Given the description of an element on the screen output the (x, y) to click on. 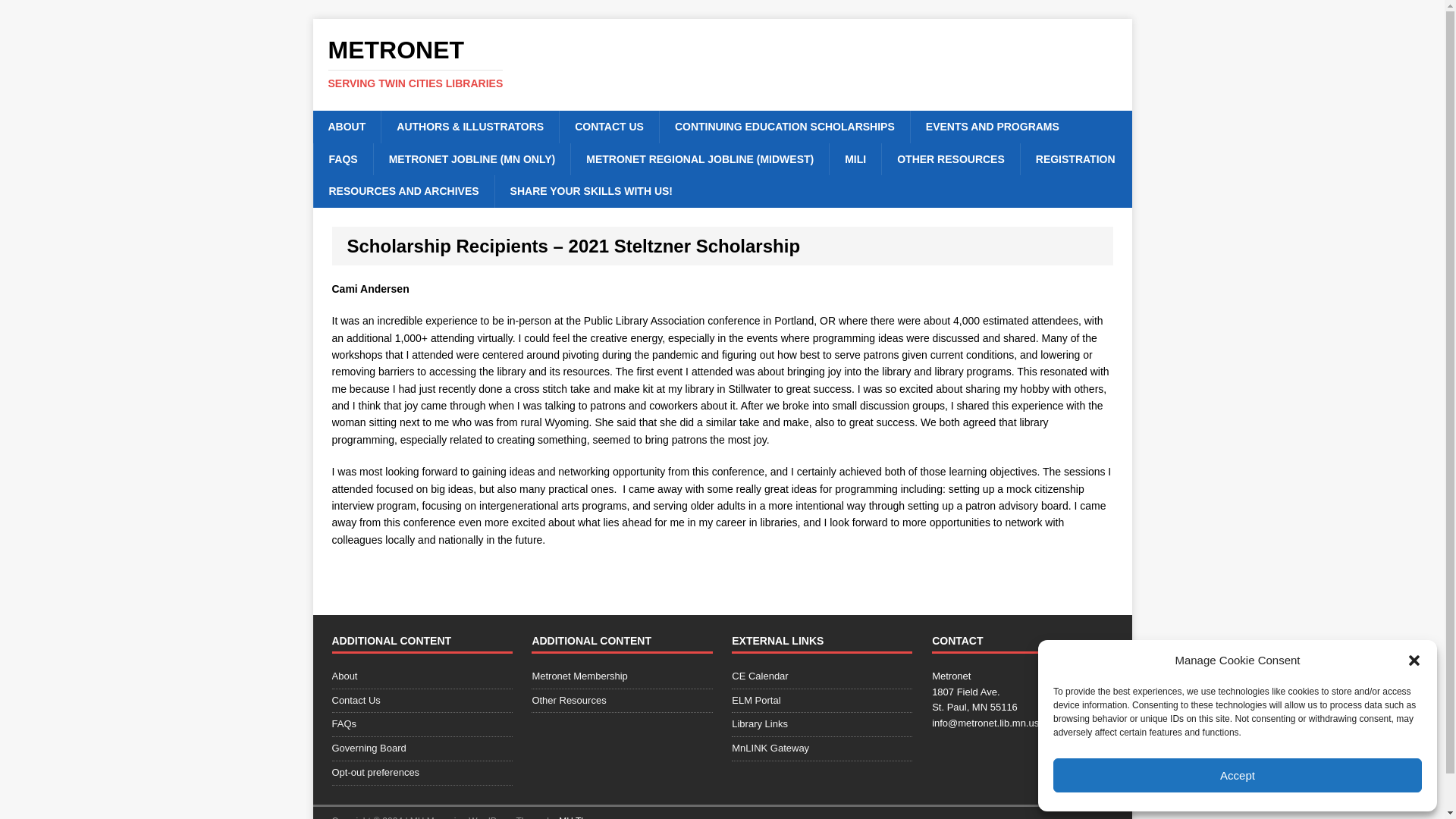
Accept (1237, 775)
Metronet (722, 64)
